Given the description of an element on the screen output the (x, y) to click on. 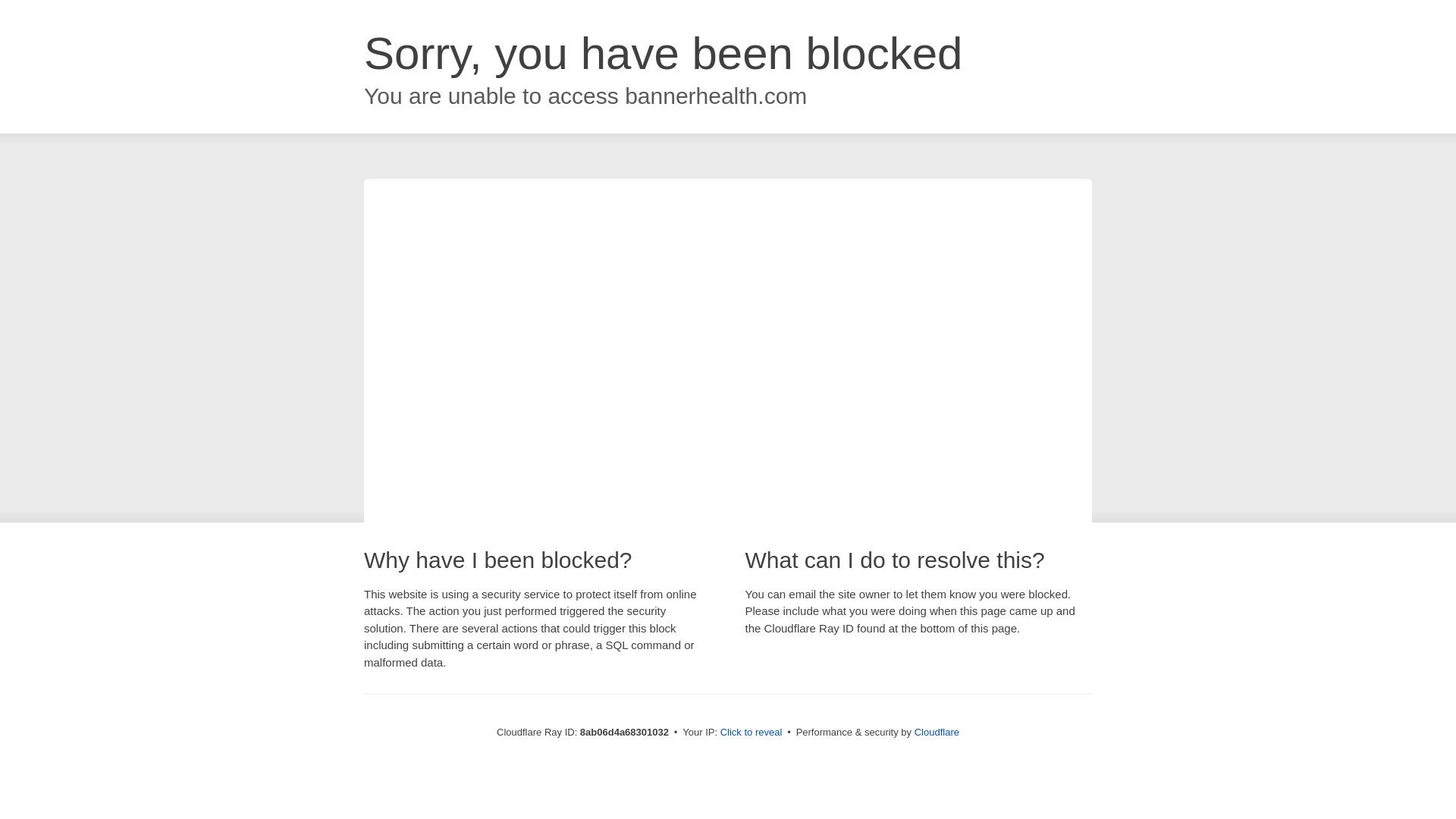
Cloudflare (936, 731)
Click to reveal (751, 732)
